Given the description of an element on the screen output the (x, y) to click on. 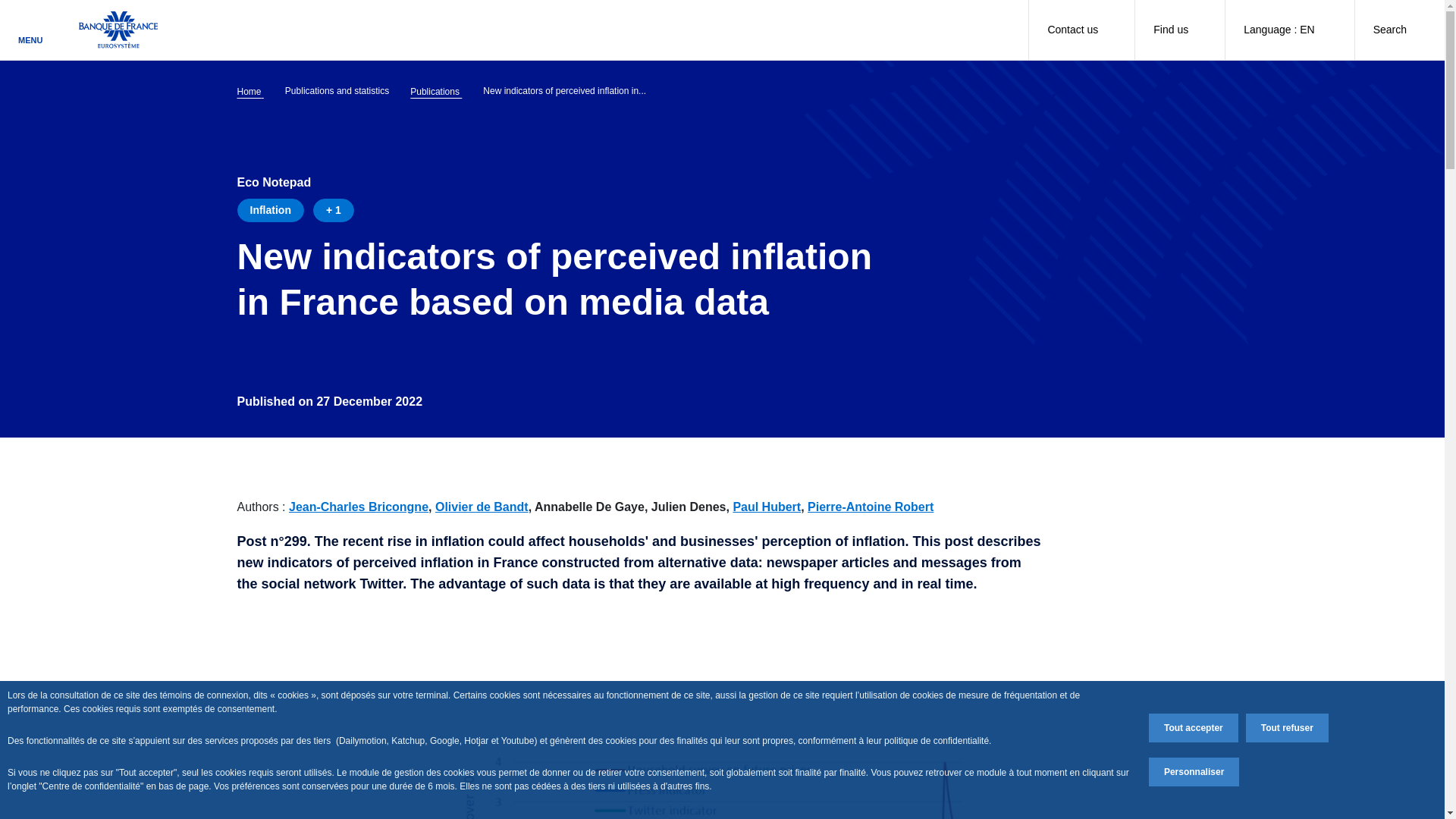
Tout refuser (1286, 727)
Menu toggler icon (30, 23)
Personnaliser (1193, 771)
Go to content Inflation (268, 210)
Tout accepter (1193, 727)
